Given the description of an element on the screen output the (x, y) to click on. 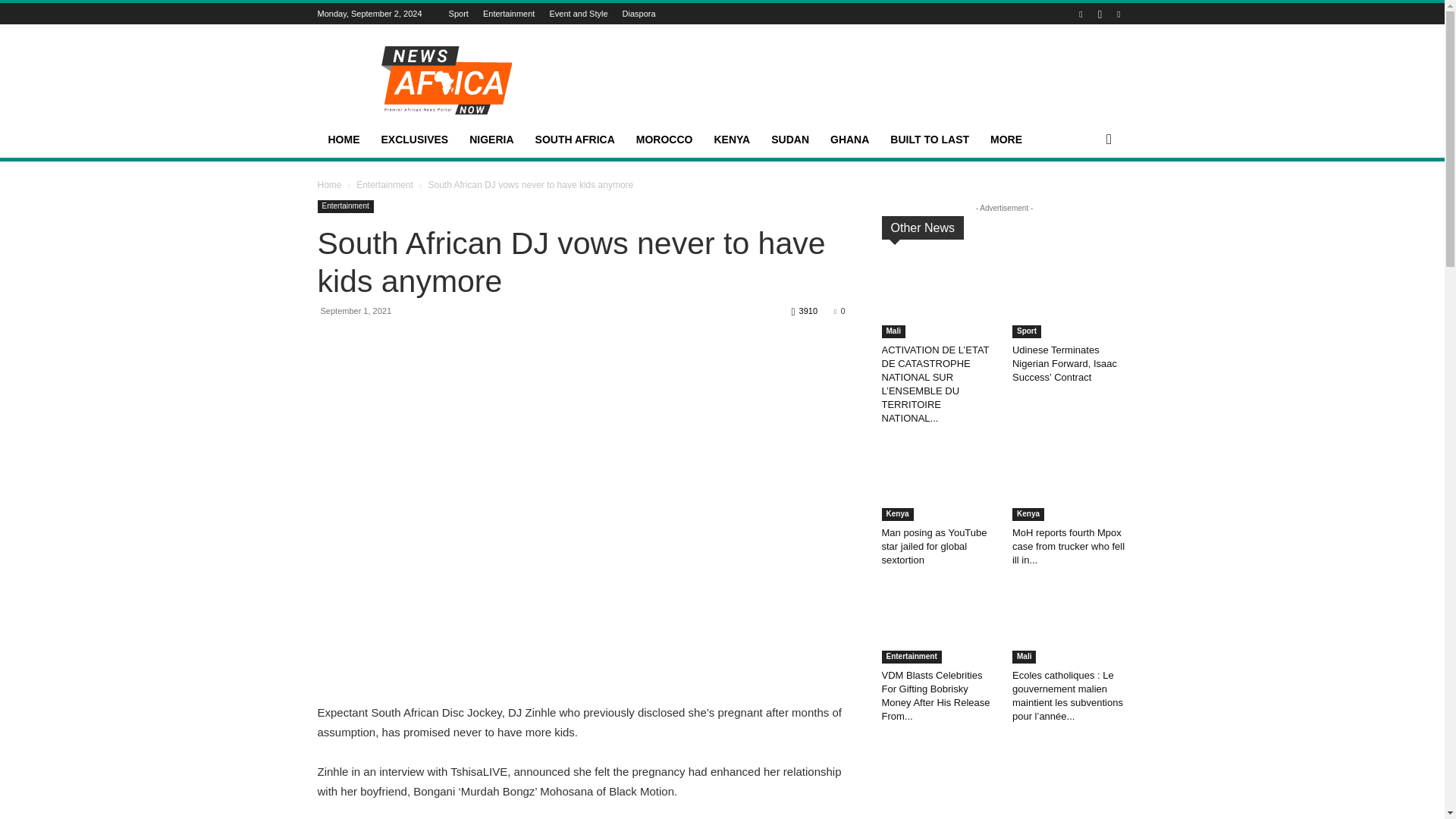
View all posts in Entertainment (384, 184)
Diaspora (639, 13)
HOME (343, 139)
NIGERIA (491, 139)
EXCLUSIVES (413, 139)
Event and Style (577, 13)
Sport (458, 13)
SOUTH AFRICA (575, 139)
Entertainment (508, 13)
MOROCCO (664, 139)
